Given the description of an element on the screen output the (x, y) to click on. 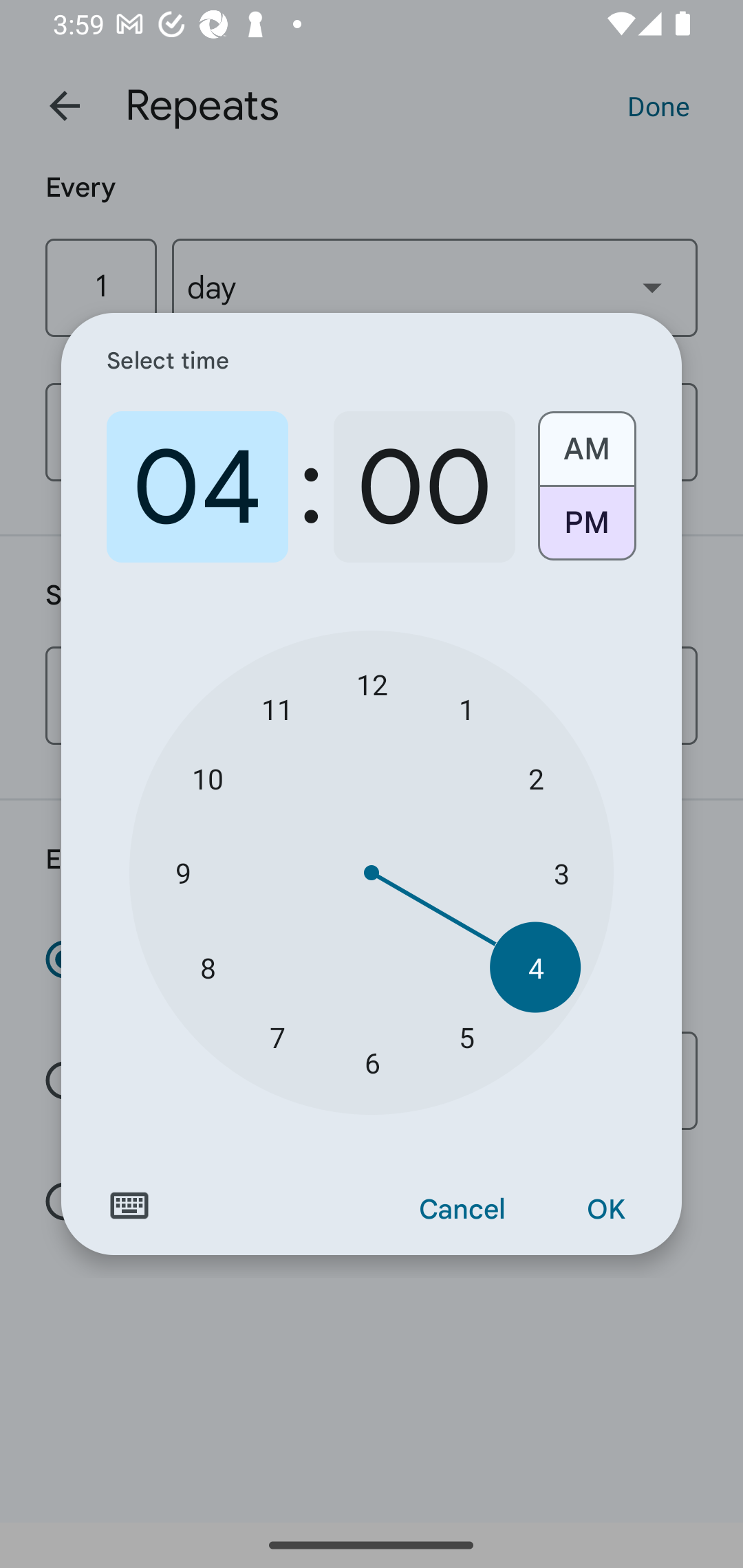
AM (586, 441)
04 4 o'clock (197, 486)
00 0 minutes (424, 486)
PM (586, 529)
12 12 o'clock (371, 683)
11 11 o'clock (276, 708)
1 1 o'clock (466, 708)
10 10 o'clock (207, 778)
2 2 o'clock (535, 778)
9 9 o'clock (182, 872)
3 3 o'clock (561, 872)
8 8 o'clock (207, 966)
4 4 o'clock (535, 966)
7 7 o'clock (276, 1035)
5 5 o'clock (466, 1035)
6 6 o'clock (371, 1062)
Switch to text input mode for the time input. (128, 1205)
Cancel (462, 1209)
OK (605, 1209)
